Given the description of an element on the screen output the (x, y) to click on. 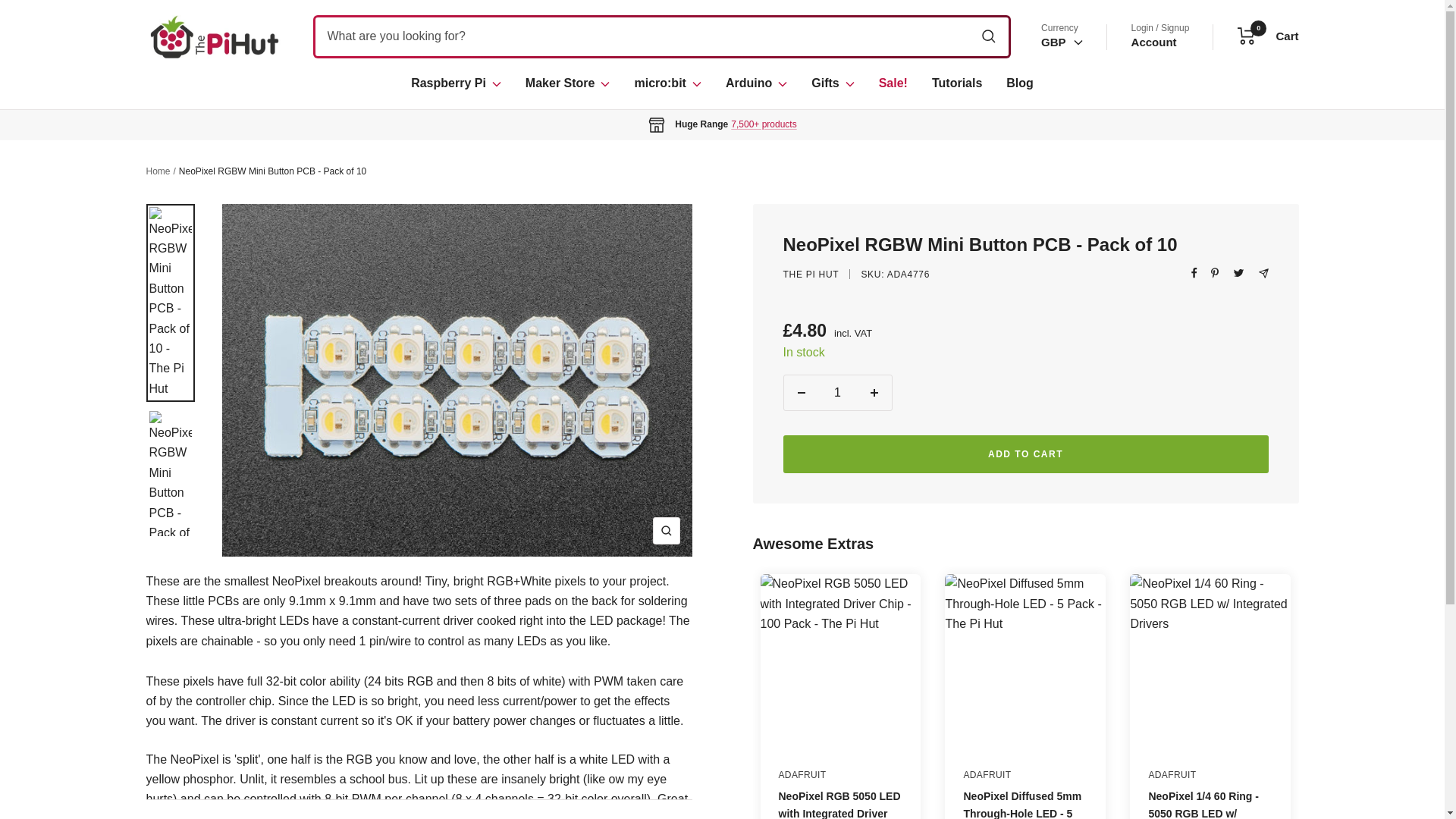
GBP (1267, 36)
Account (1062, 42)
USD (1153, 42)
Tutorials (1058, 116)
EUR (956, 83)
The Pi Hut (1058, 161)
micro:bit (213, 36)
Maker Store (666, 83)
1 (567, 83)
